Given the description of an element on the screen output the (x, y) to click on. 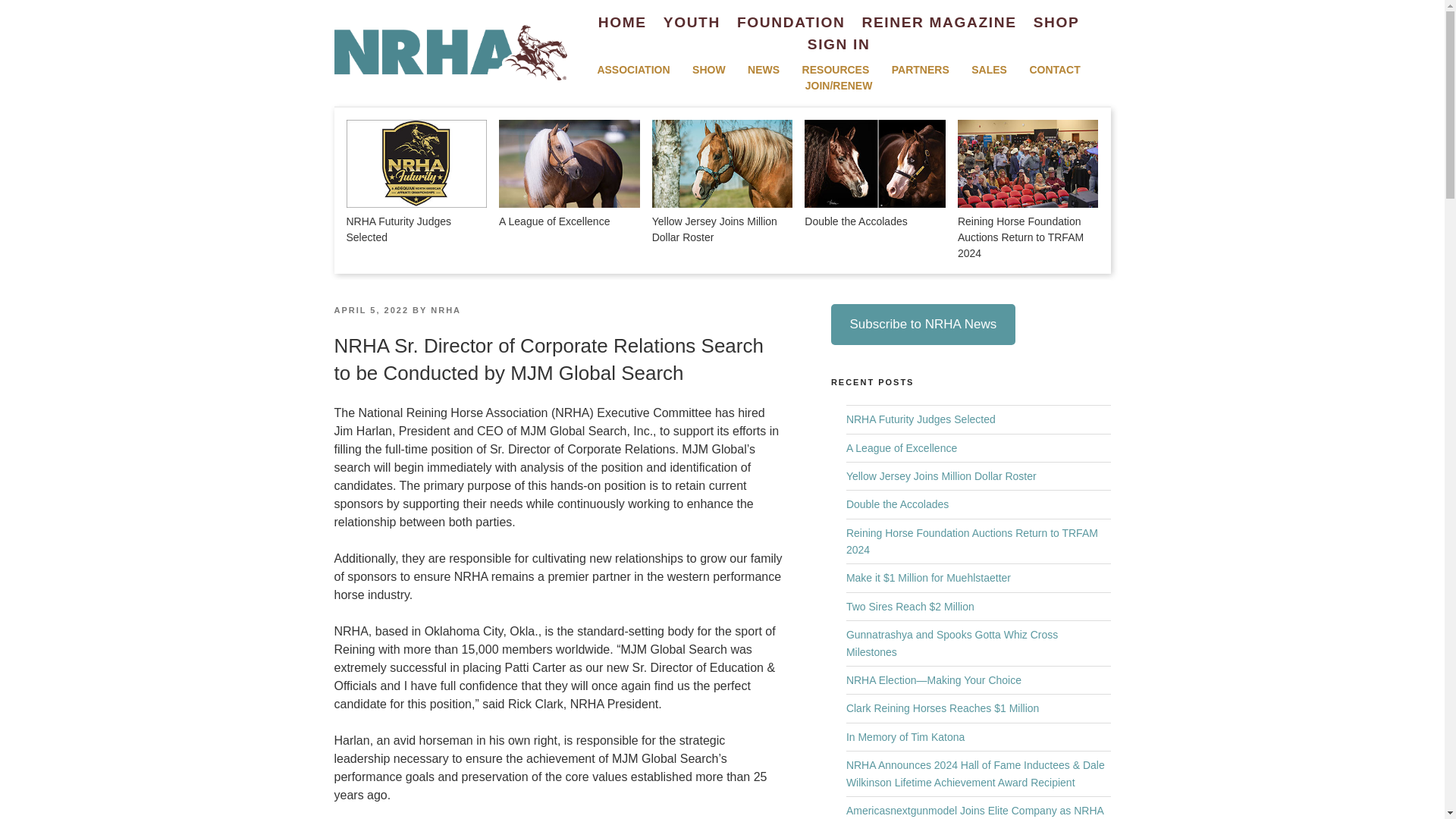
HOME (622, 23)
FOUNDATION (790, 23)
REINER MAGAZINE (939, 23)
SHOP (1056, 23)
YOUTH (692, 23)
SIGN IN (839, 45)
